Given the description of an element on the screen output the (x, y) to click on. 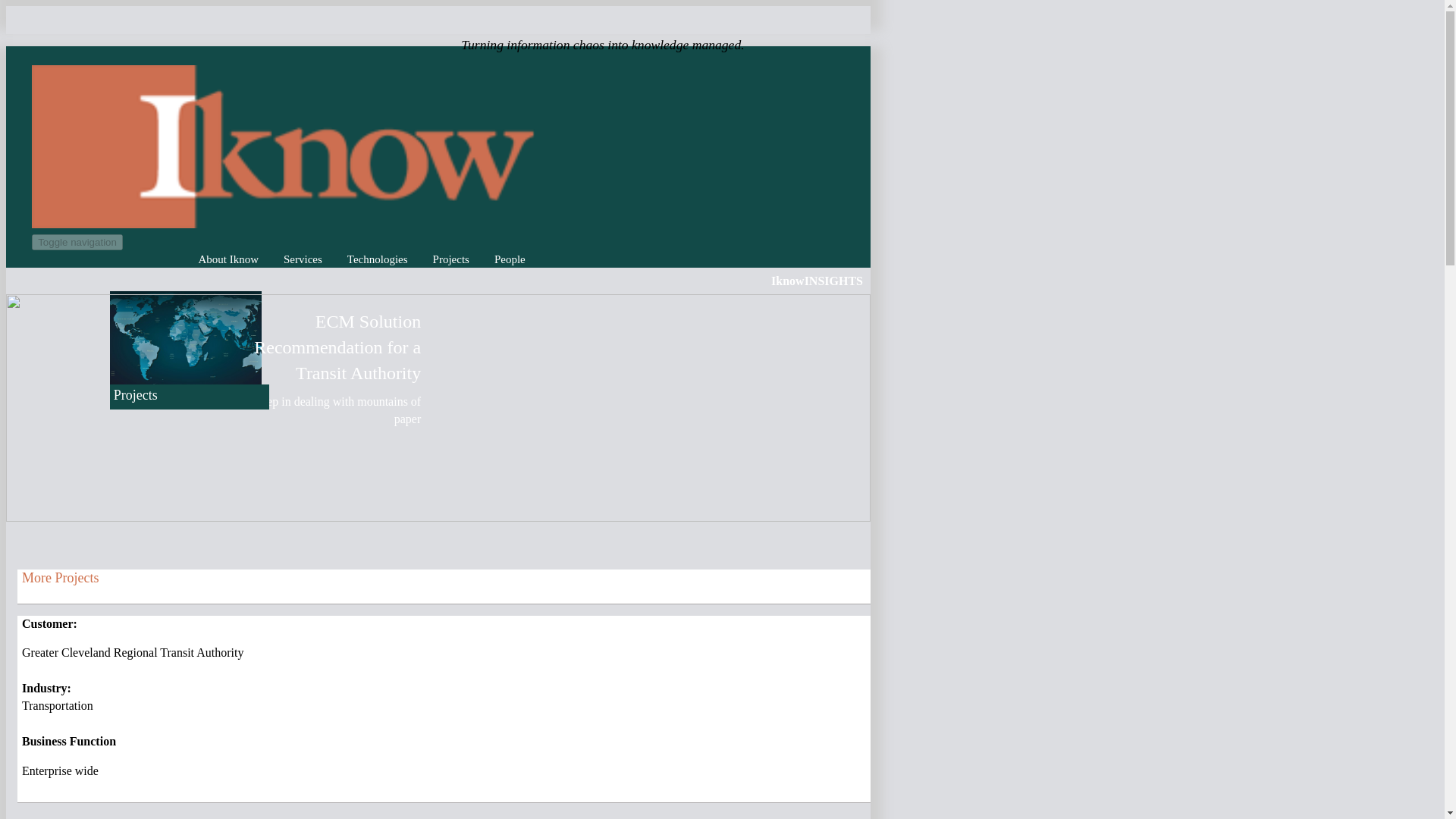
Toggle navigation (77, 242)
Home (283, 223)
